Given the description of an element on the screen output the (x, y) to click on. 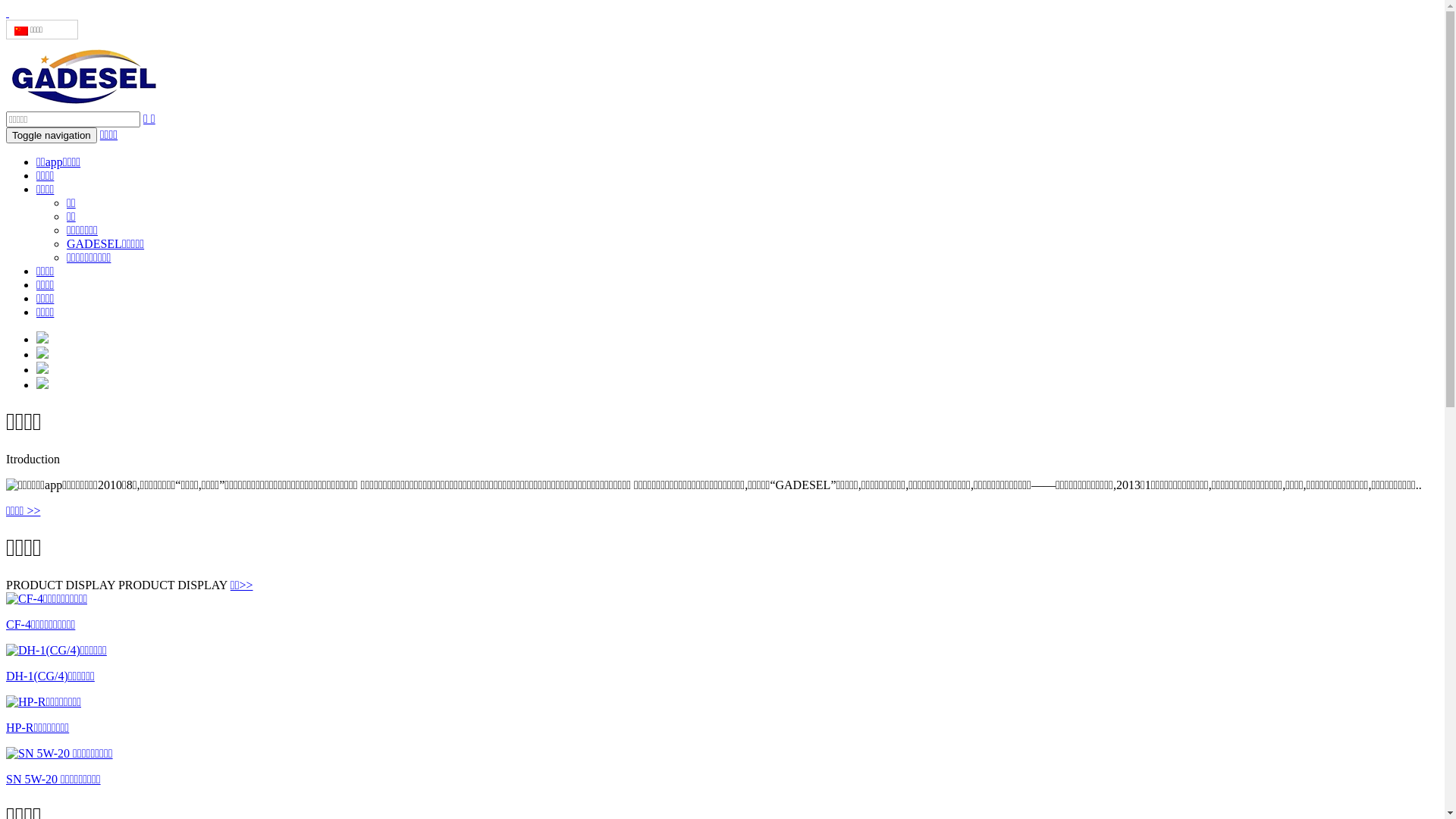
  Element type: text (722, 12)
Toggle navigation Element type: text (51, 135)
